Given the description of an element on the screen output the (x, y) to click on. 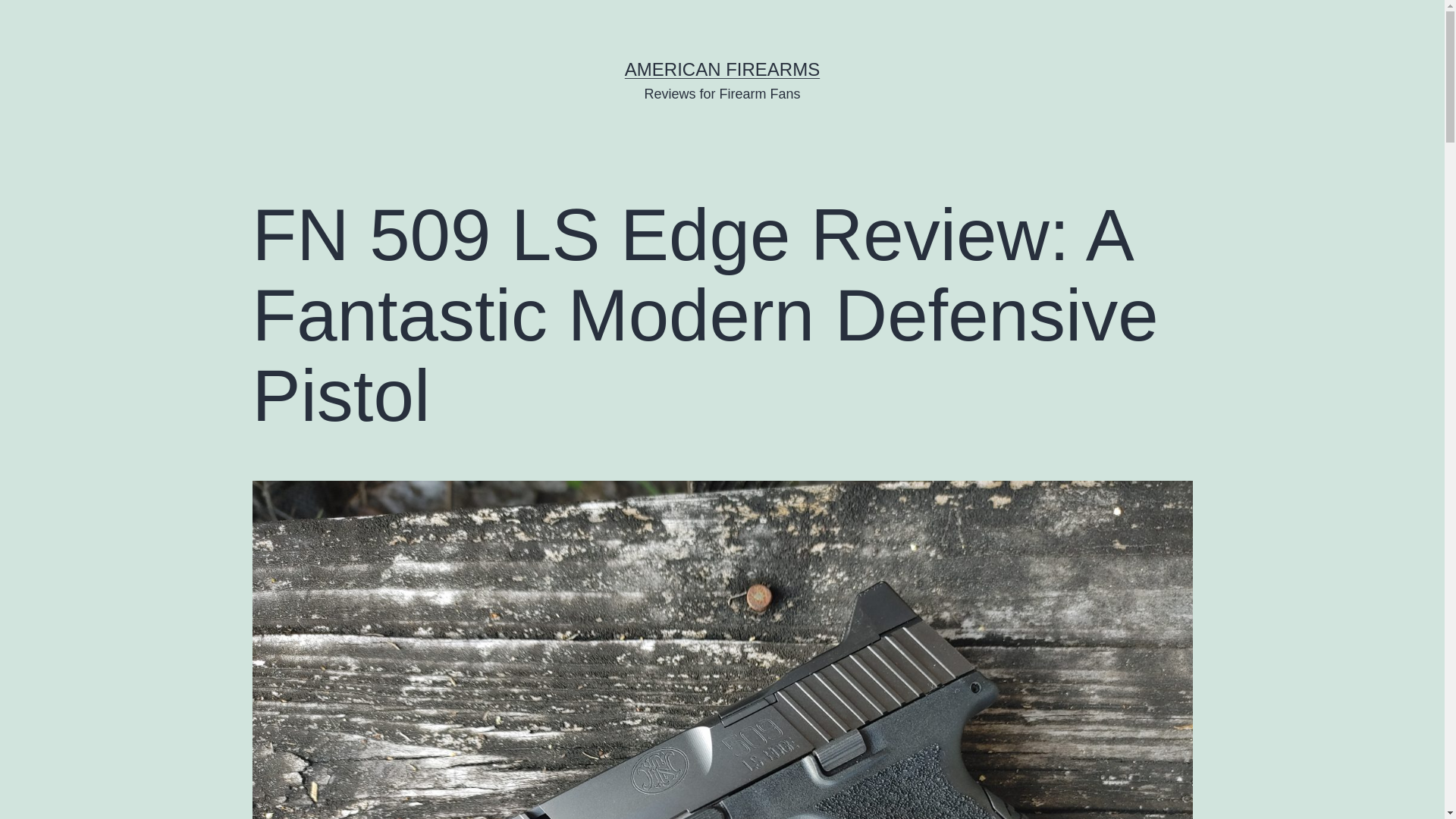
AMERICAN FIREARMS (721, 68)
